Given the description of an element on the screen output the (x, y) to click on. 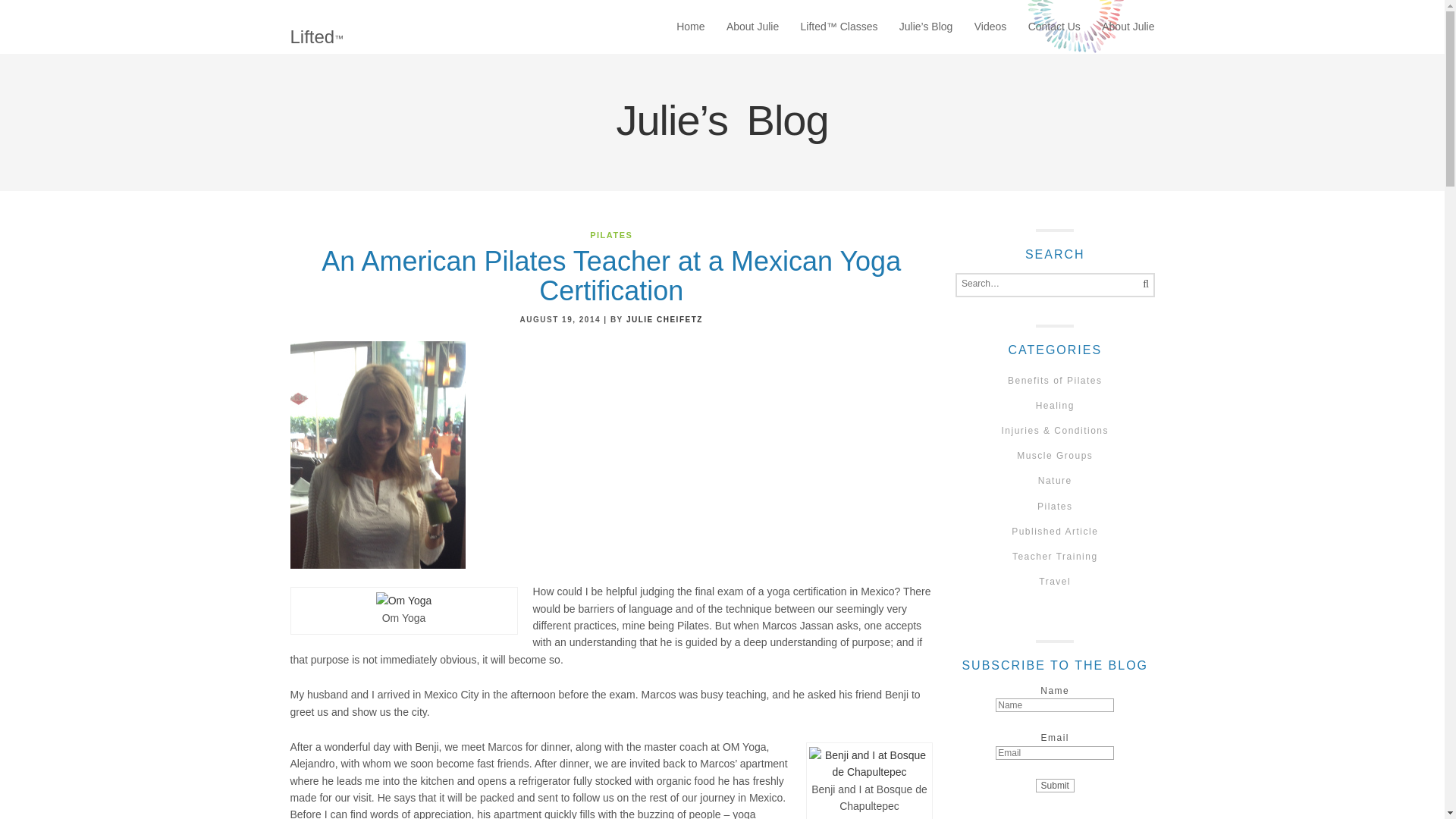
About Julie (1128, 27)
Videos (990, 27)
Search (1142, 284)
Search (1142, 284)
About Julie (752, 27)
Contact Us (1053, 27)
Home (690, 27)
Submit (1054, 785)
